Given the description of an element on the screen output the (x, y) to click on. 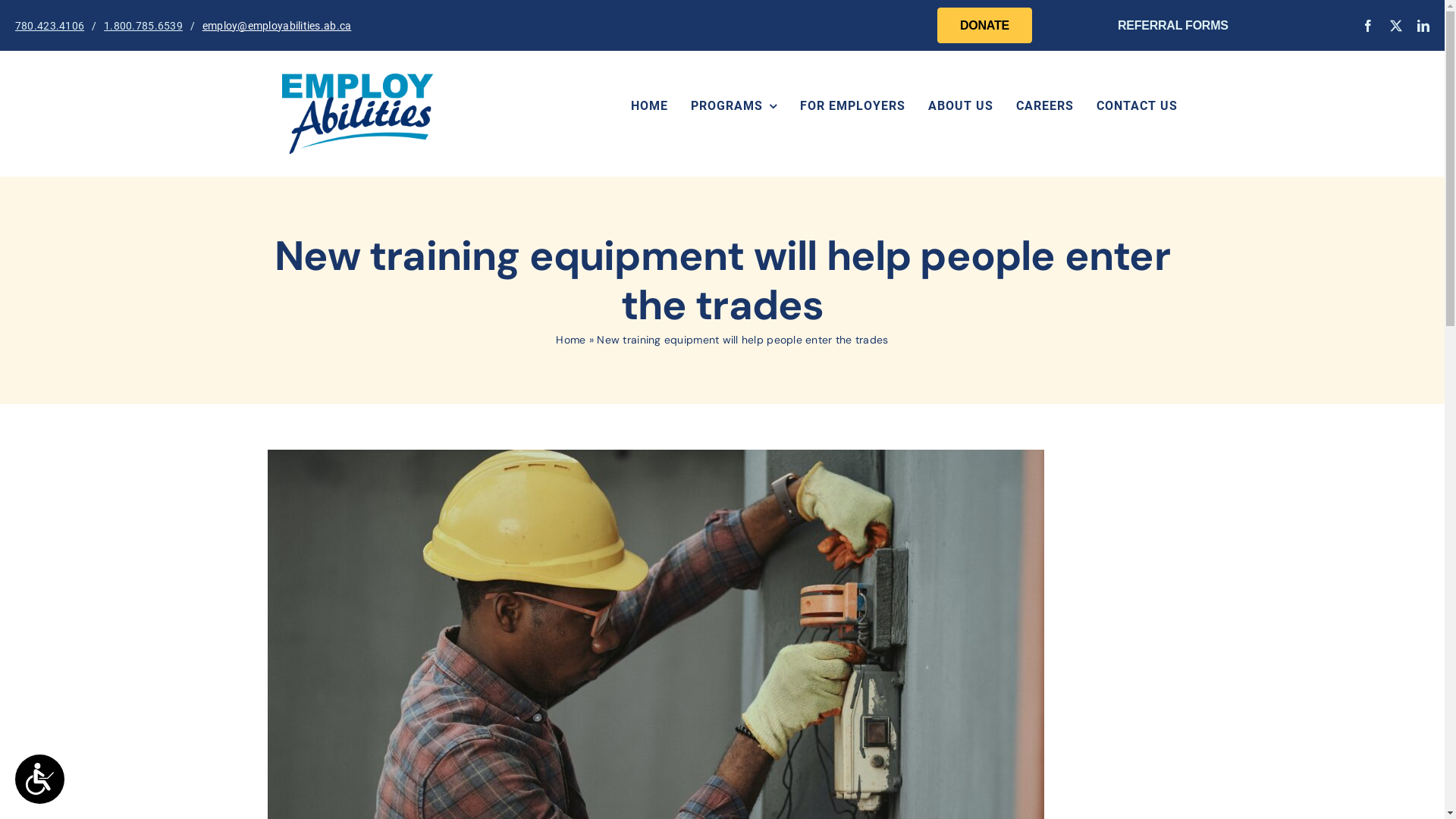
FOR EMPLOYERS Element type: text (841, 105)
DONATE Element type: text (984, 25)
Facebook Element type: hover (1367, 25)
Home Element type: text (570, 339)
CONTACT US Element type: text (1125, 105)
LinkedIn Element type: hover (1423, 25)
Twitter Element type: hover (1395, 25)
1.800.785.6539 Element type: text (142, 25)
HOME Element type: text (638, 105)
ABOUT US Element type: text (949, 105)
REFERRAL FORMS Element type: text (1173, 25)
780.423.4106 Element type: text (49, 25)
PROGRAMS Element type: text (722, 105)
employ@employabilities.ab.ca Element type: text (276, 25)
CAREERS Element type: text (1033, 105)
